Given the description of an element on the screen output the (x, y) to click on. 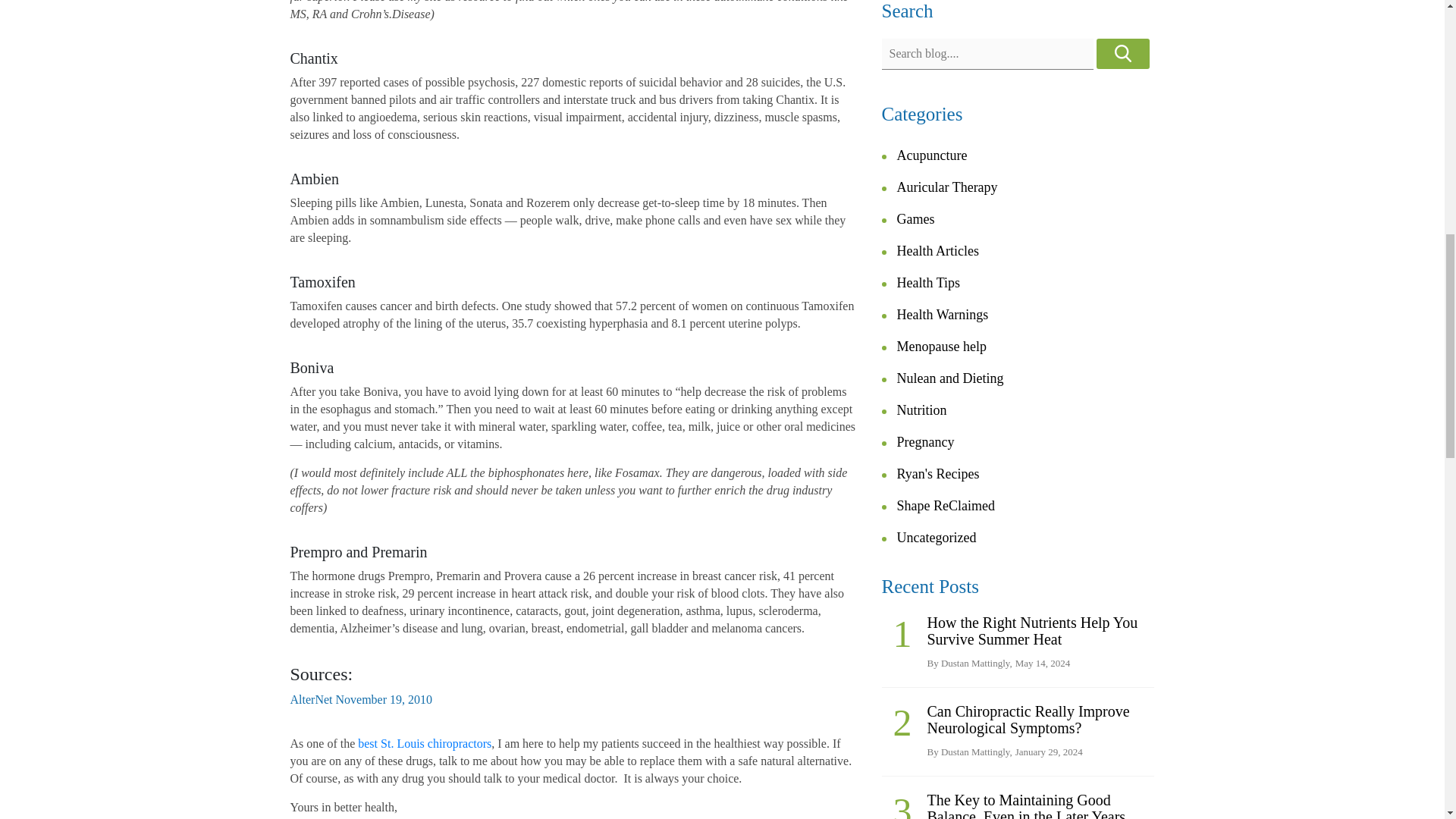
Acupuncture (931, 155)
Auricular Therapy (946, 186)
Search (1123, 53)
Health Articles (937, 250)
Games (915, 218)
Health Tips (927, 282)
Health Warnings (942, 314)
AlterNet November 19, 2010 (360, 698)
Search (1123, 53)
best St. Louis chiropractors (425, 743)
Search (1123, 53)
